Given the description of an element on the screen output the (x, y) to click on. 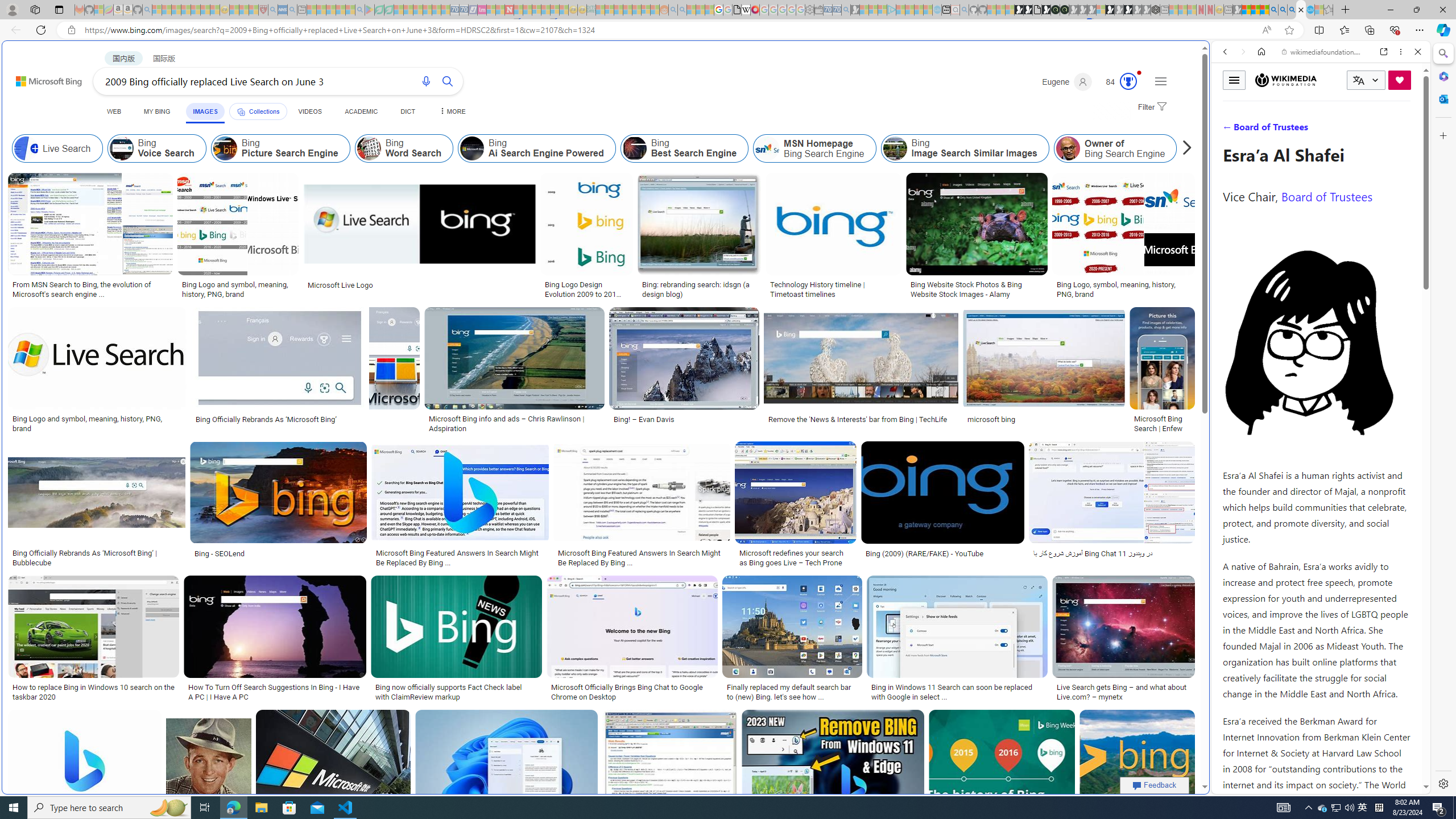
Cheap Hotels - Save70.com - Sleeping (463, 9)
Preferences (1403, 129)
Remove the 'News & Interests' bar from Bing | TechLife (857, 419)
Technology History timeline | Timetoast timelines (833, 289)
Microsoft Bing Search | Enfew (1162, 423)
Eugene (1067, 81)
